Given the description of an element on the screen output the (x, y) to click on. 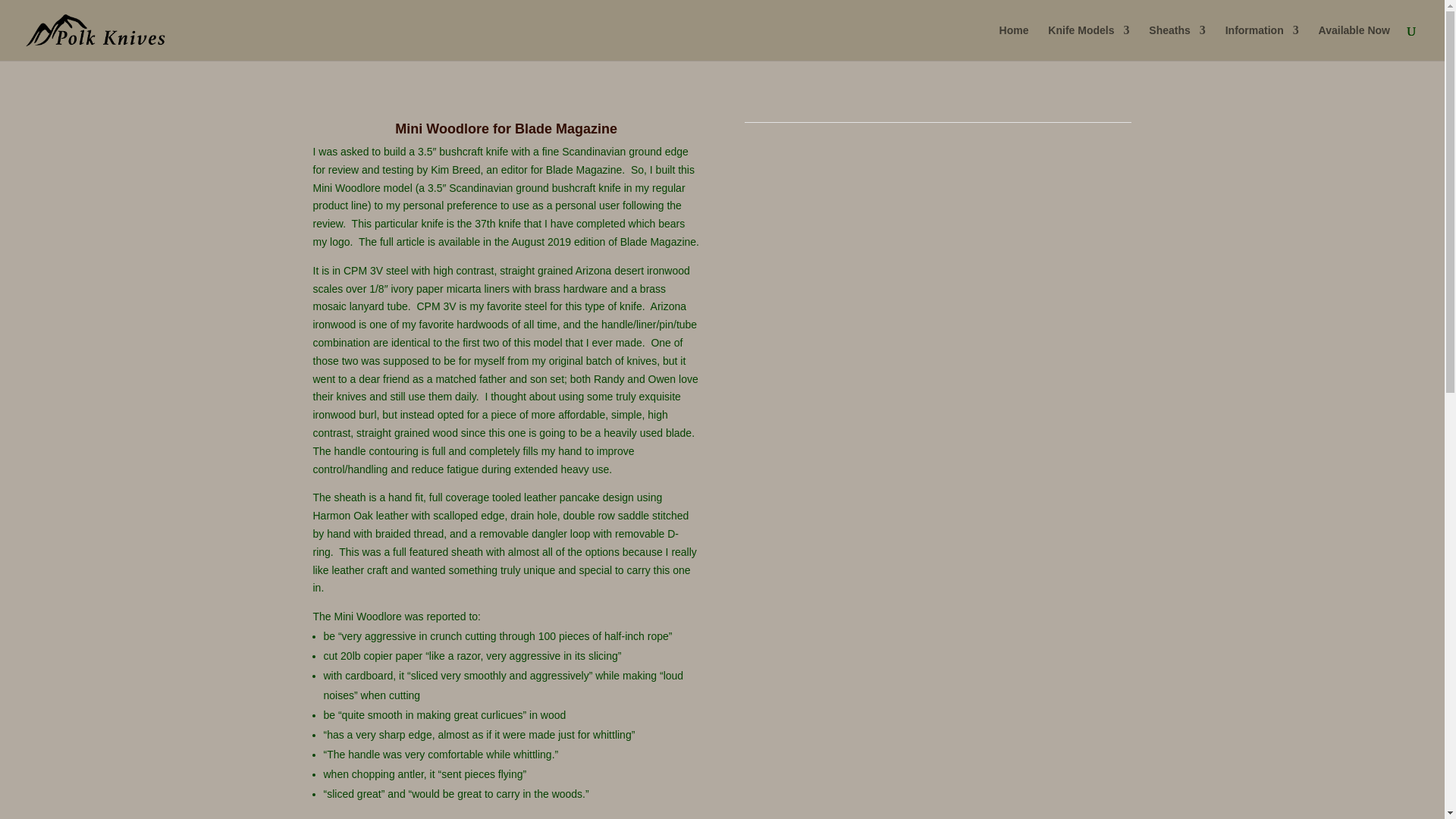
Available Now (1354, 42)
Knife Models (1088, 42)
Sheaths (1176, 42)
Information (1261, 42)
